Given the description of an element on the screen output the (x, y) to click on. 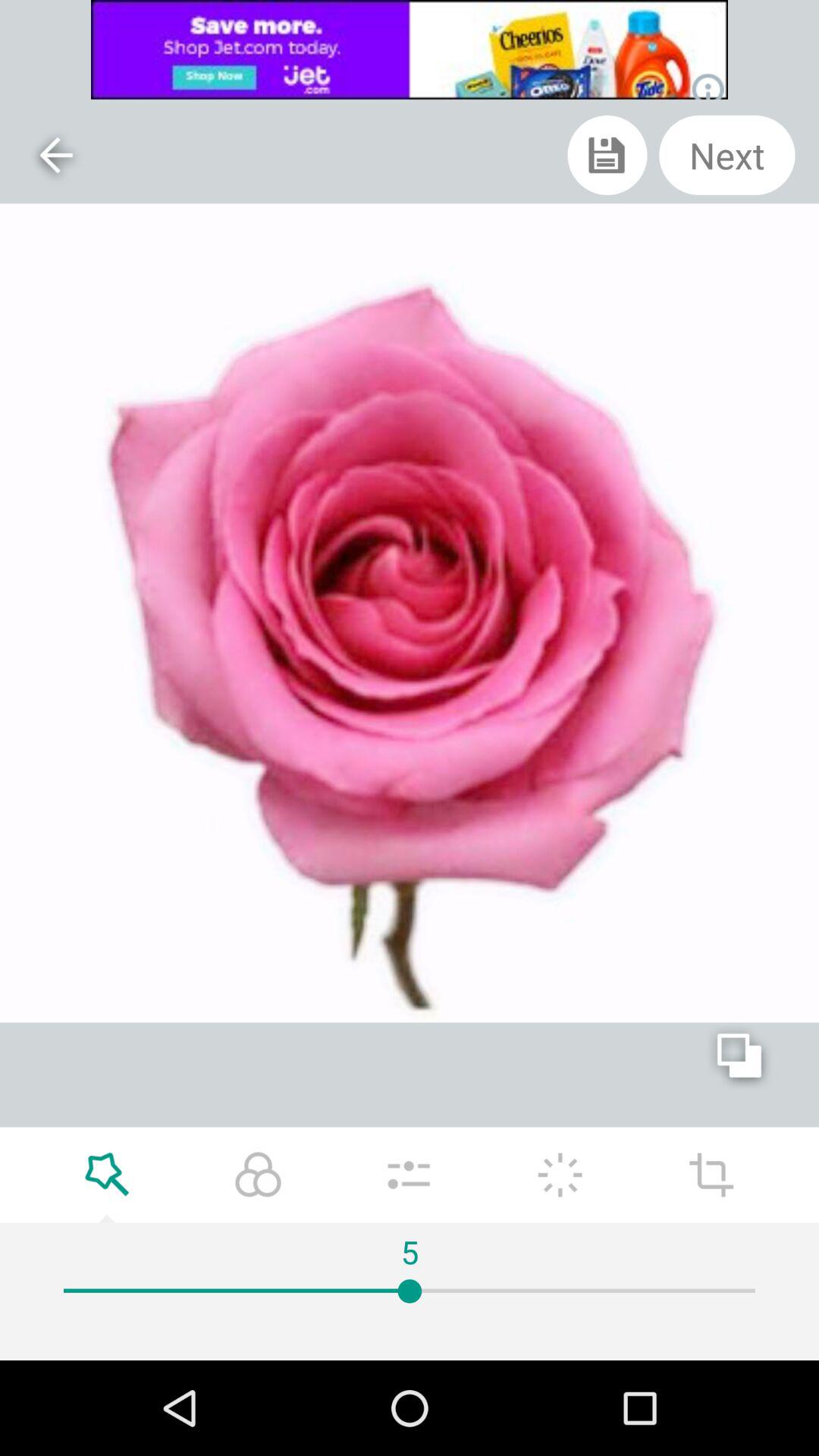
go back to last page (55, 155)
